Given the description of an element on the screen output the (x, y) to click on. 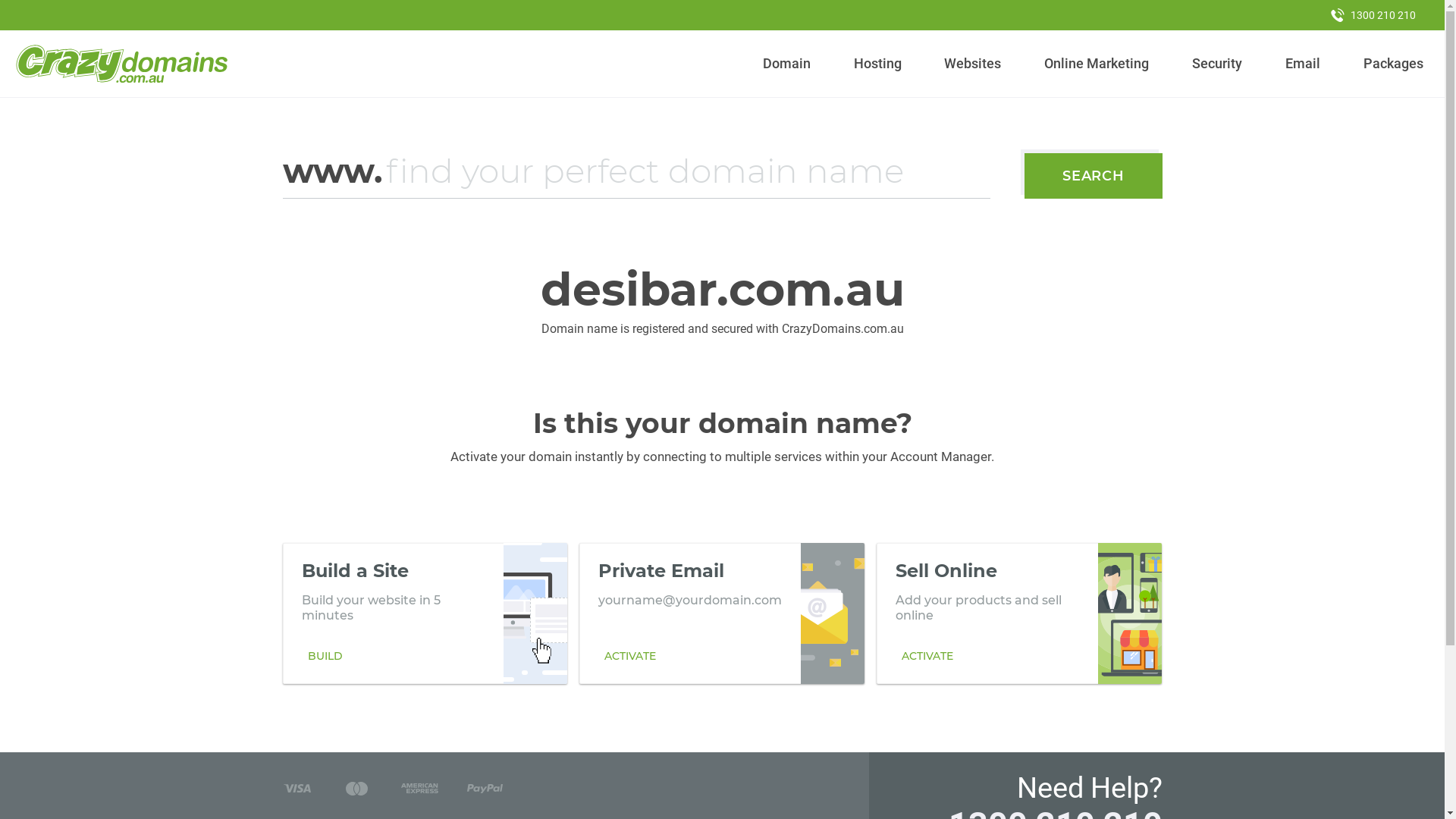
Domain Element type: text (786, 63)
Sell Online
Add your products and sell online
ACTIVATE Element type: text (1018, 613)
Security Element type: text (1217, 63)
Packages Element type: text (1392, 63)
1300 210 210 Element type: text (1373, 15)
Private Email
yourname@yourdomain.com
ACTIVATE Element type: text (721, 613)
Build a Site
Build your website in 5 minutes
BUILD Element type: text (424, 613)
SEARCH Element type: text (1092, 175)
Online Marketing Element type: text (1096, 63)
Email Element type: text (1302, 63)
Hosting Element type: text (877, 63)
Websites Element type: text (972, 63)
